Given the description of an element on the screen output the (x, y) to click on. 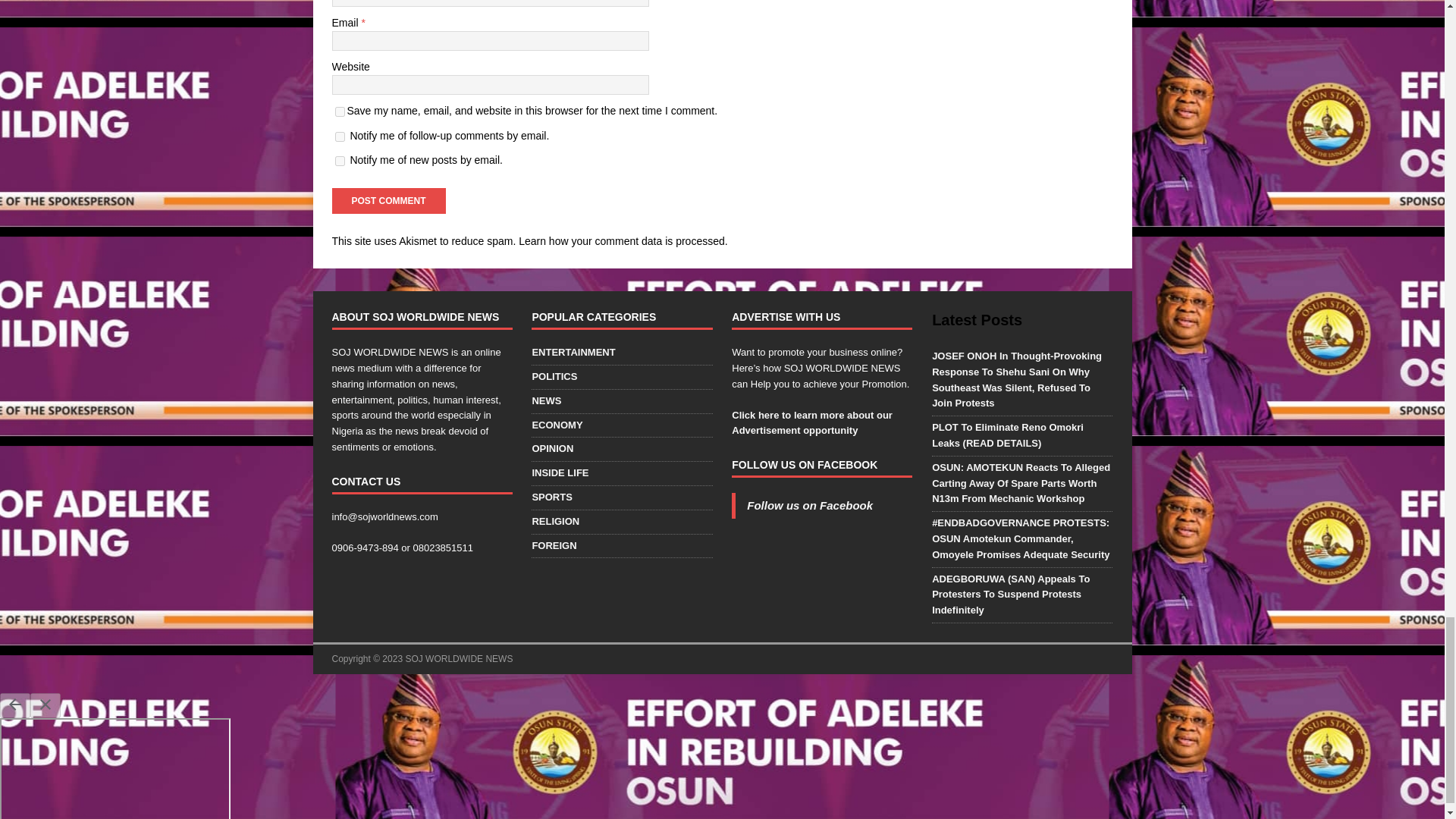
Post Comment (388, 200)
Post Comment (388, 200)
yes (339, 112)
subscribe (339, 161)
subscribe (339, 136)
Learn how your comment data is processed (621, 241)
